Given the description of an element on the screen output the (x, y) to click on. 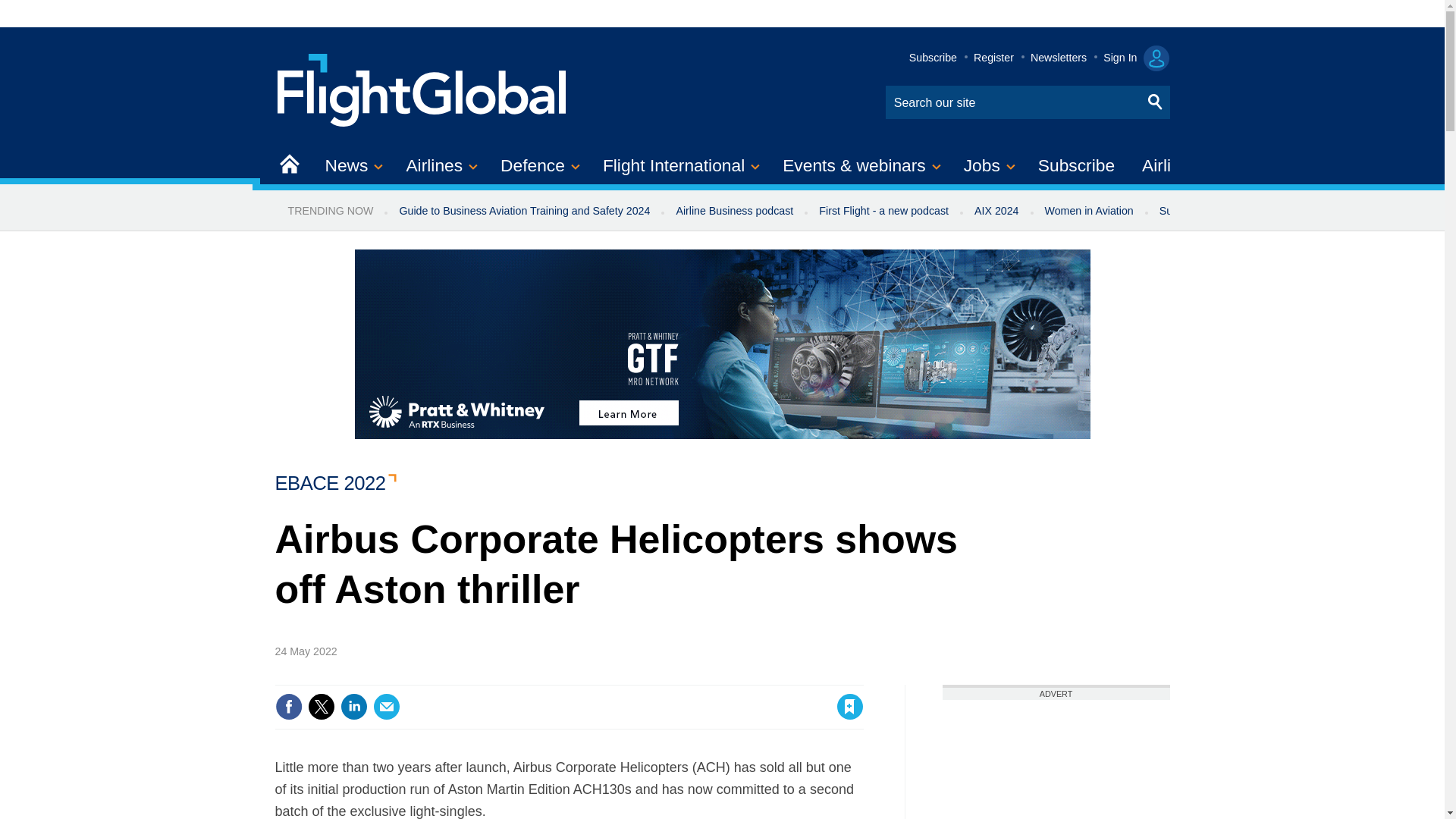
Guide to Business Aviation Training and Safety 2024 (523, 210)
Email this article (386, 706)
Sustainable Aviation newsletter (1234, 210)
First Flight - a new podcast (883, 210)
3rd party ad content (1055, 759)
Women in Aviation (1089, 210)
Airline Business podcast (734, 210)
Site name (422, 88)
AIX 2024 (996, 210)
Share this on Facebook (288, 706)
Share this on Twitter (320, 706)
Share this on Linked in (352, 706)
